Given the description of an element on the screen output the (x, y) to click on. 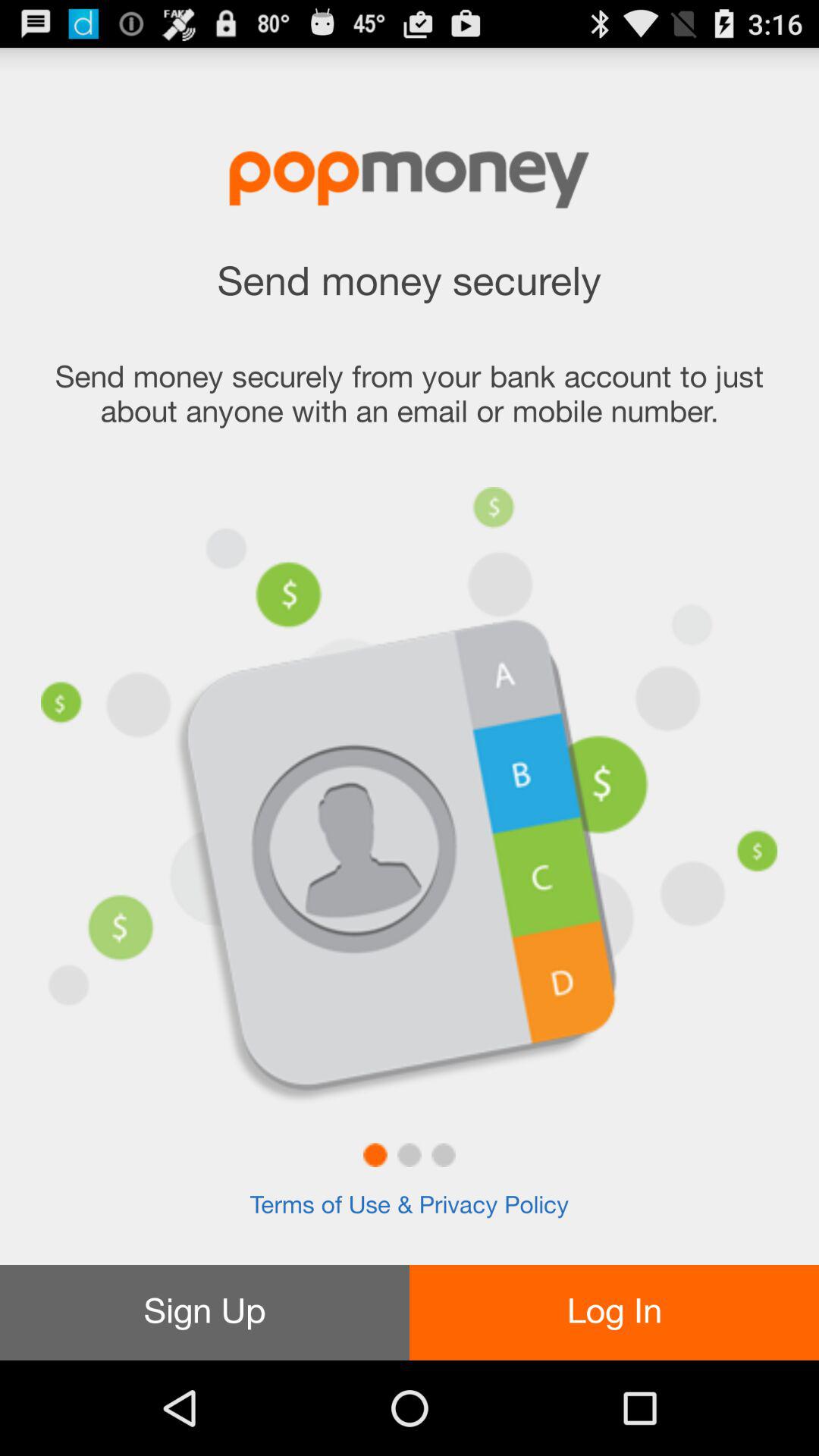
turn on the icon to the left of the log in (204, 1312)
